Given the description of an element on the screen output the (x, y) to click on. 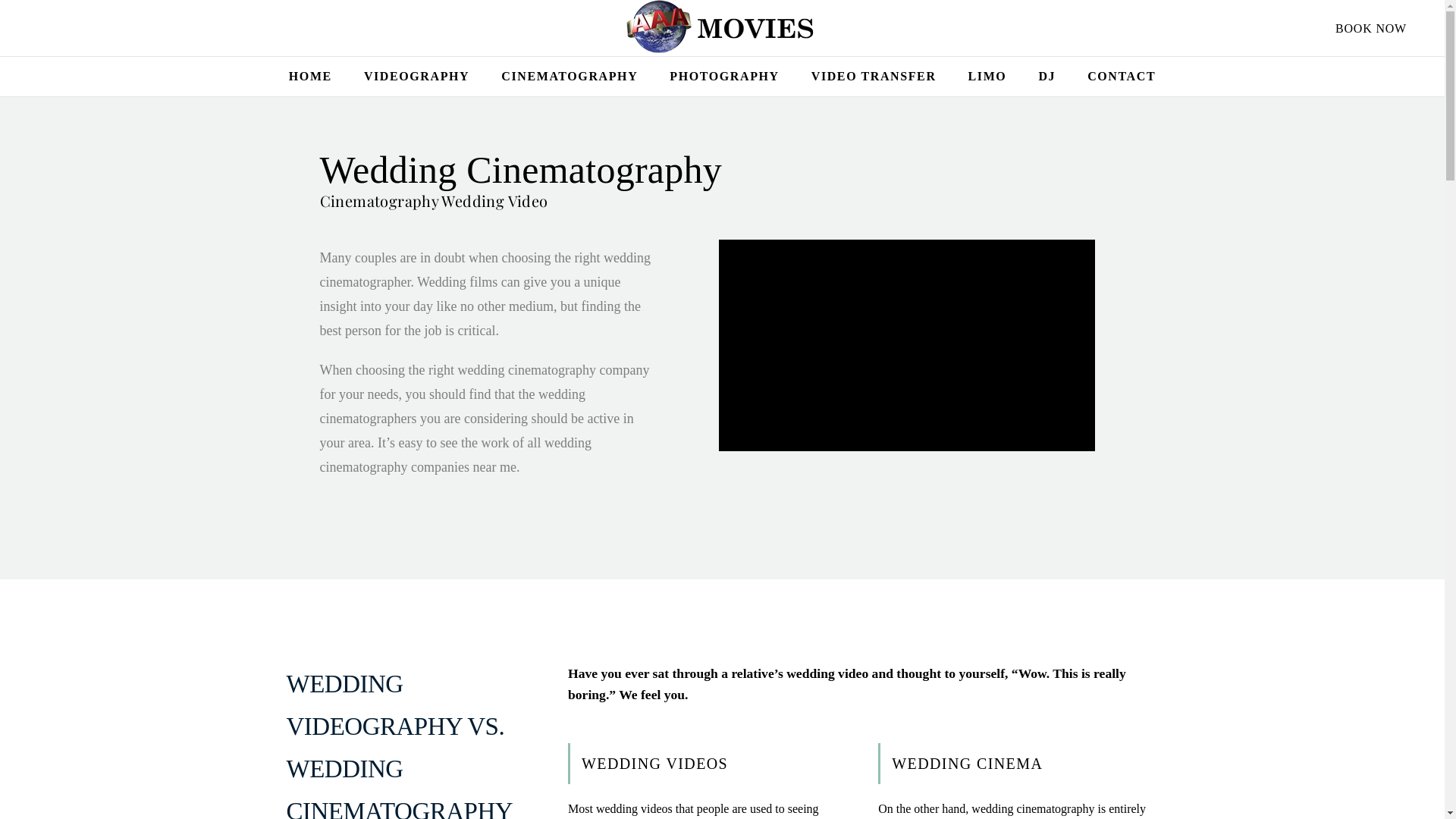
vimeo Video Player Element type: hover (906, 345)
CINEMATOGRAPHY Element type: text (569, 76)
PHOTOGRAPHY Element type: text (723, 76)
CONTACT Element type: text (1121, 76)
BOOK NOW Element type: text (1370, 27)
VIDEO TRANSFER Element type: text (873, 76)
VIDEOGRAPHY Element type: text (416, 76)
LIMO Element type: text (987, 76)
DJ Element type: text (1046, 76)
HOME Element type: text (310, 76)
